Given the description of an element on the screen output the (x, y) to click on. 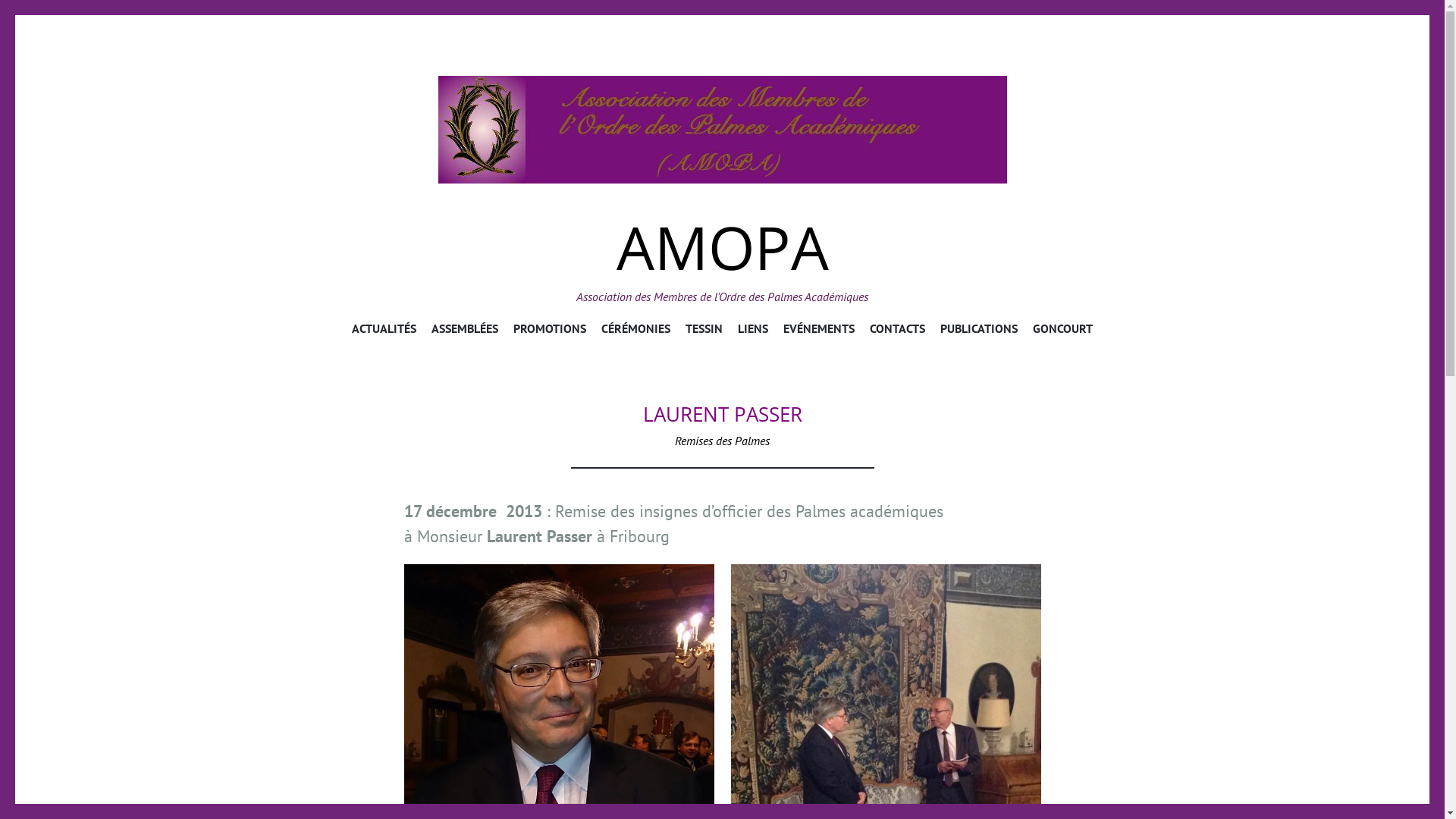
Remises des Palmes Element type: text (721, 440)
LIENS Element type: text (752, 331)
CONTACTS Element type: text (897, 331)
PROMOTIONS Element type: text (549, 331)
GONCOURT Element type: text (1062, 331)
AMOPA Element type: text (721, 246)
PUBLICATIONS Element type: text (978, 331)
AMOPA Element type: hover (721, 129)
TESSIN Element type: text (703, 331)
ALLER AU CONTENU PRINCIPAL Element type: text (721, 320)
